Given the description of an element on the screen output the (x, y) to click on. 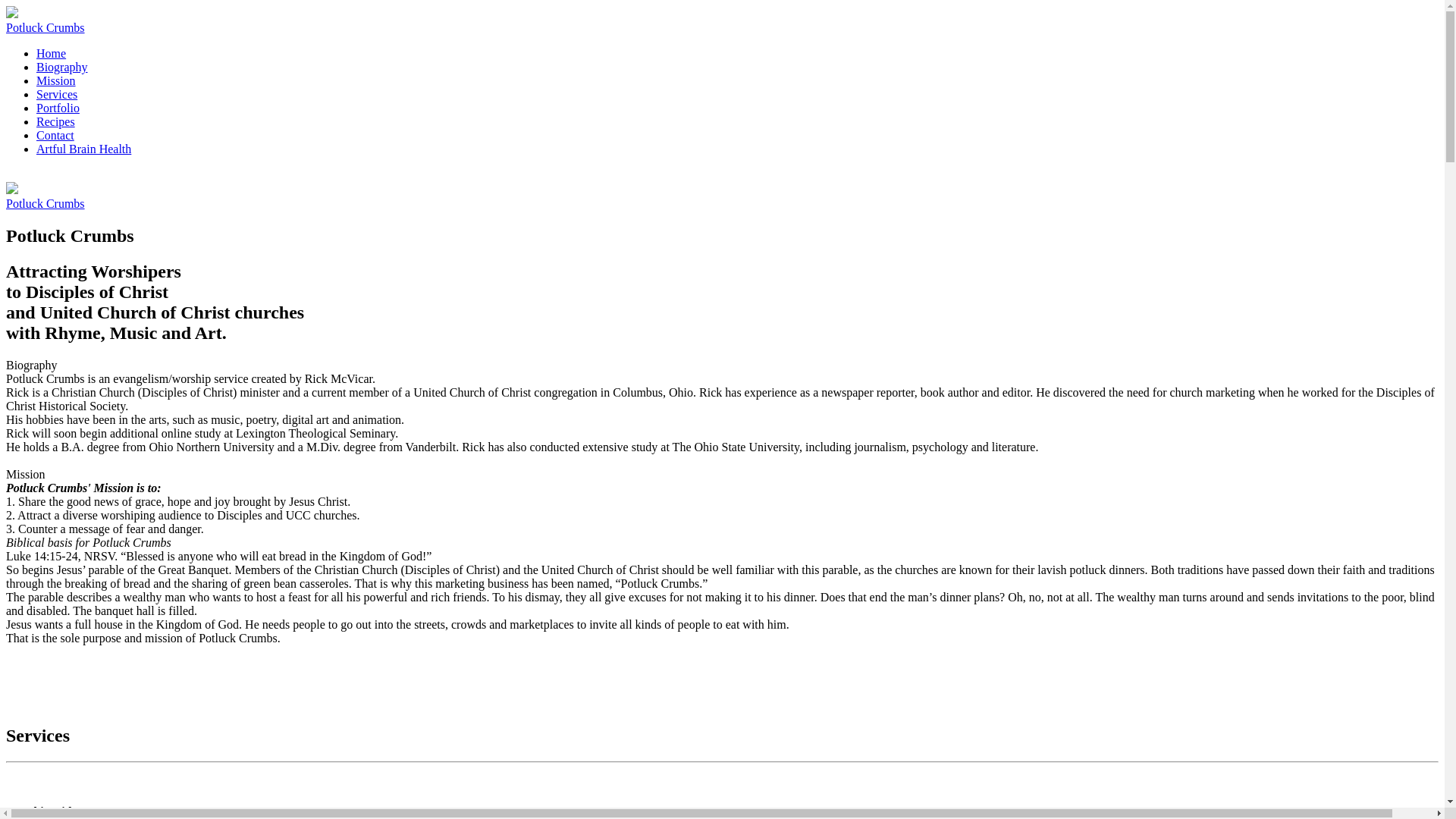
Potluck Crumbs (721, 195)
Services (56, 93)
Biography (61, 66)
Recipes (55, 121)
Home (50, 52)
Potluck Crumbs (721, 195)
Mission (55, 80)
Contact (55, 134)
Portfolio (58, 107)
Biography (61, 66)
Potluck Crumbs (721, 20)
Mission (55, 80)
Potluck Crumbs (721, 20)
Contact (55, 134)
Portfolio (58, 107)
